Given the description of an element on the screen output the (x, y) to click on. 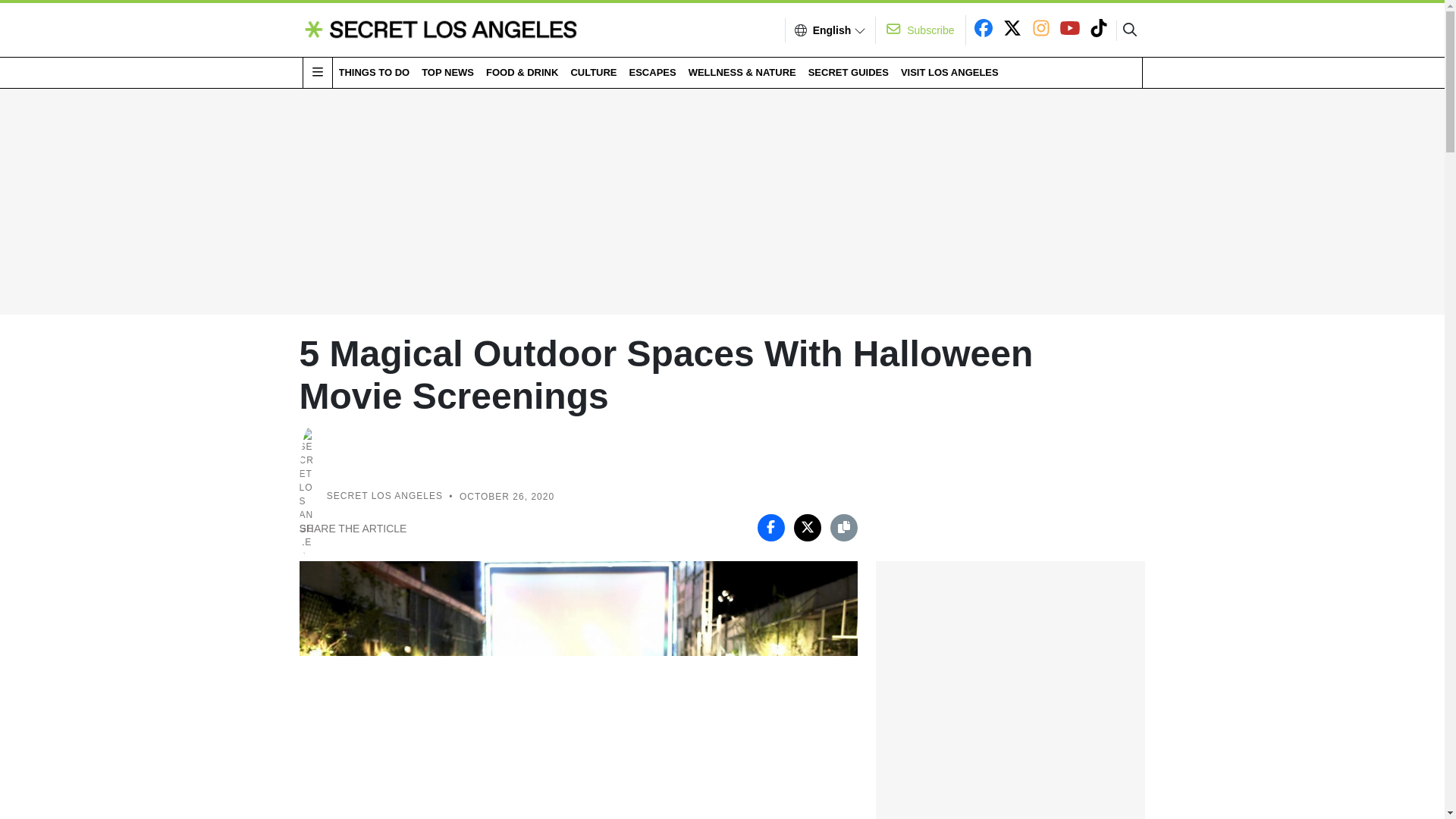
TOP NEWS (448, 72)
THINGS TO DO (373, 72)
CULTURE (592, 72)
English (831, 29)
VISIT LOS ANGELES (949, 72)
ESCAPES (652, 72)
SECRET LOS ANGELES (384, 496)
SECRET GUIDES (848, 72)
